Given the description of an element on the screen output the (x, y) to click on. 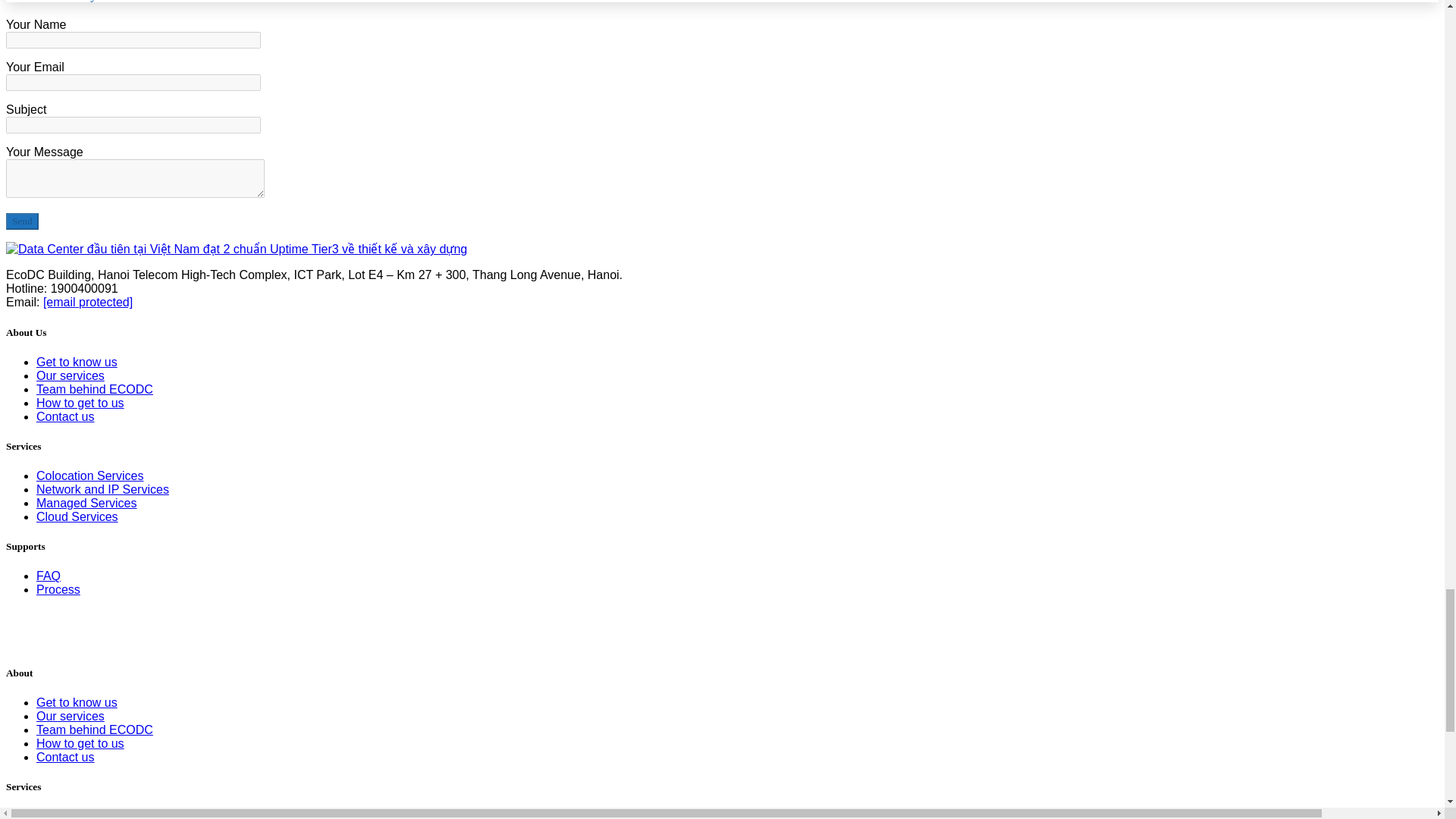
Managed Services (86, 502)
How to get to us (79, 402)
Send (22, 221)
Contact us (65, 416)
Network and IP Services (102, 489)
Send (22, 221)
Our services (70, 375)
Colocation Services (89, 475)
Get to know us (76, 361)
Team behind ECODC (94, 389)
